Given the description of an element on the screen output the (x, y) to click on. 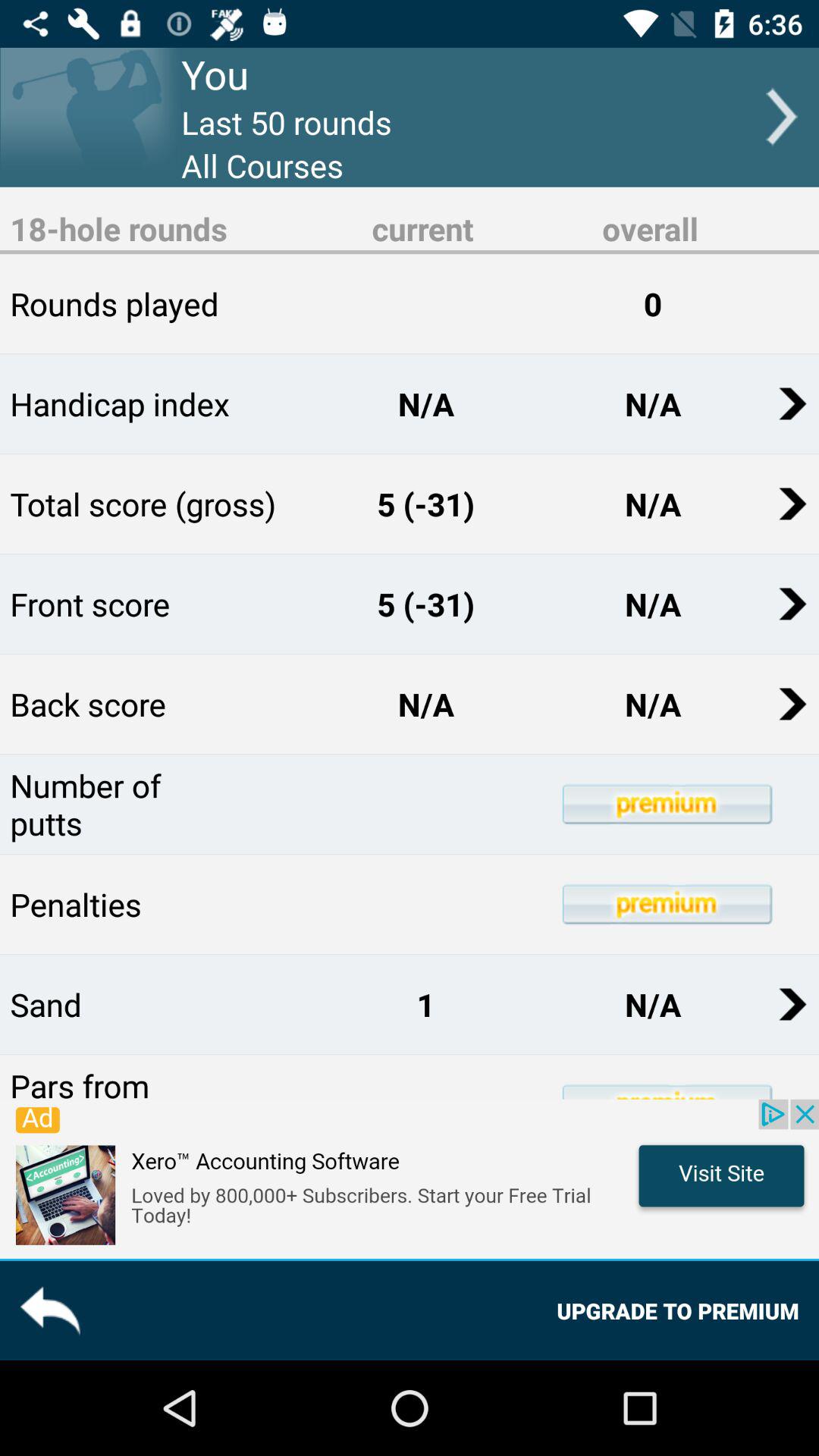
advertisement page (409, 1178)
